Given the description of an element on the screen output the (x, y) to click on. 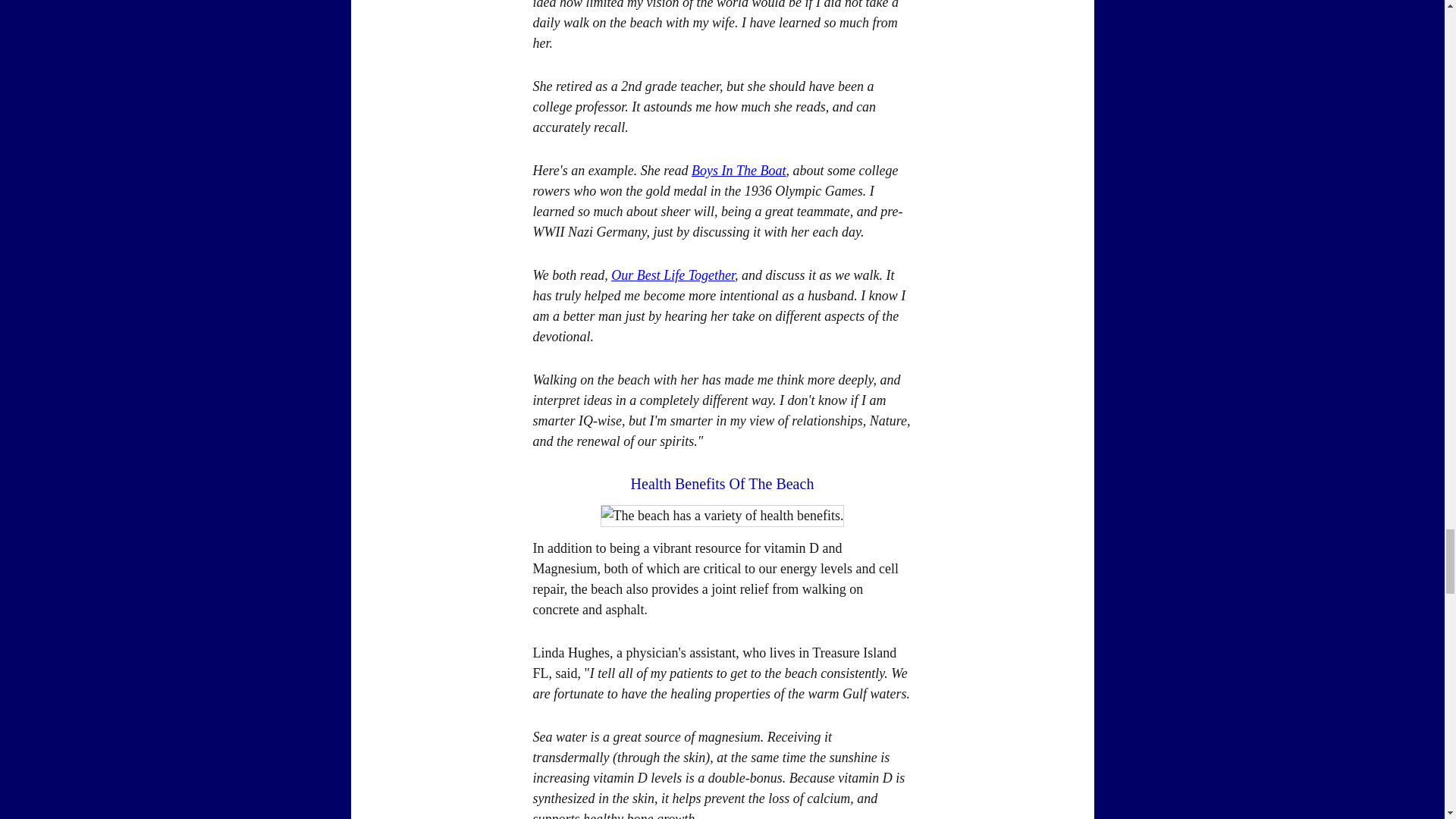
Our Best Life Together (673, 274)
The beach has a variety of health benefits. (721, 516)
Boys In The Boat (738, 170)
